Given the description of an element on the screen output the (x, y) to click on. 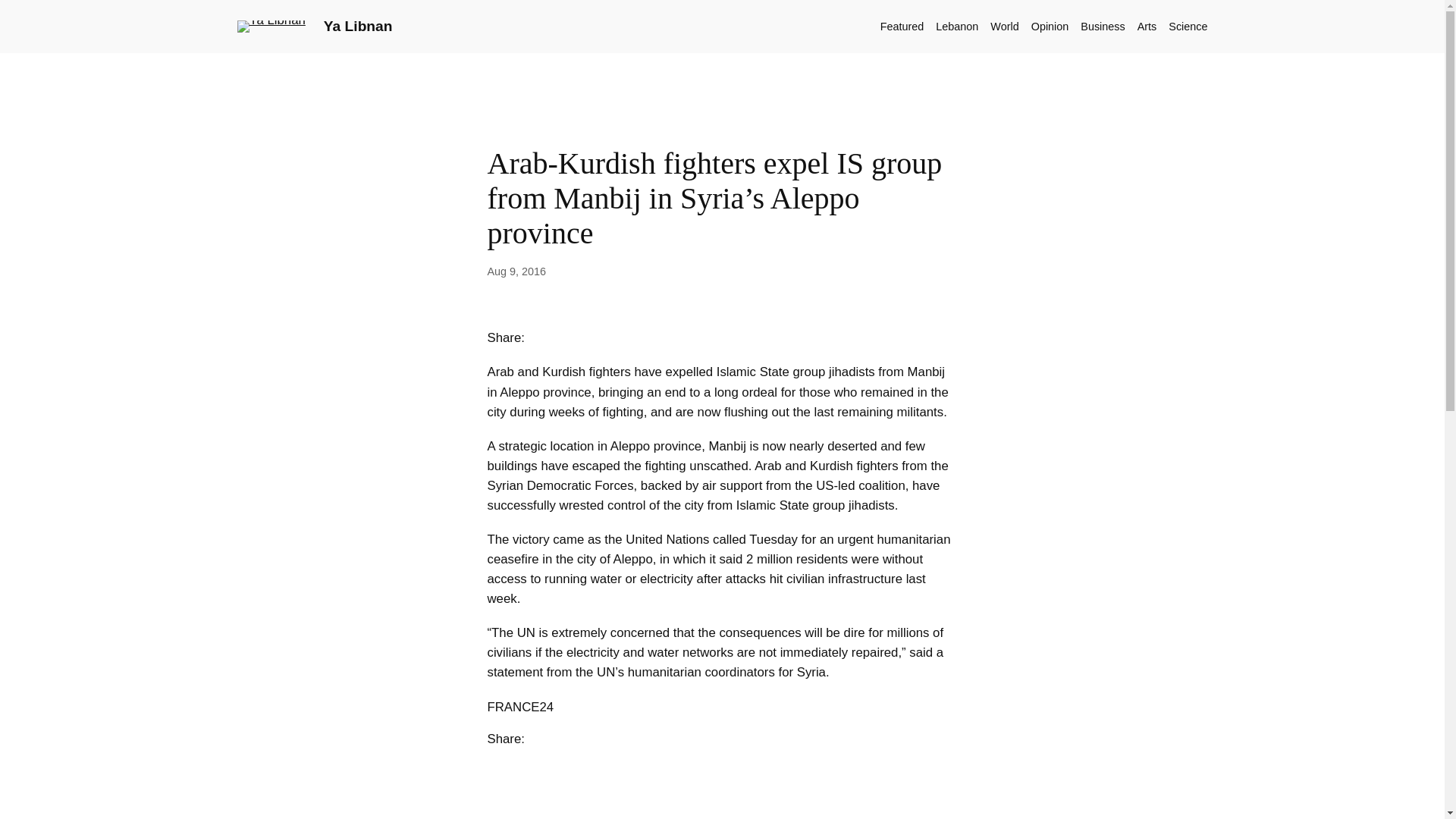
Lebanon (957, 26)
Arts (1147, 26)
Science (1188, 26)
World (1003, 26)
Aug 9, 2016 (516, 271)
Business (1102, 26)
Featured (902, 26)
Ya Libnan (358, 26)
Opinion (1049, 26)
